Given the description of an element on the screen output the (x, y) to click on. 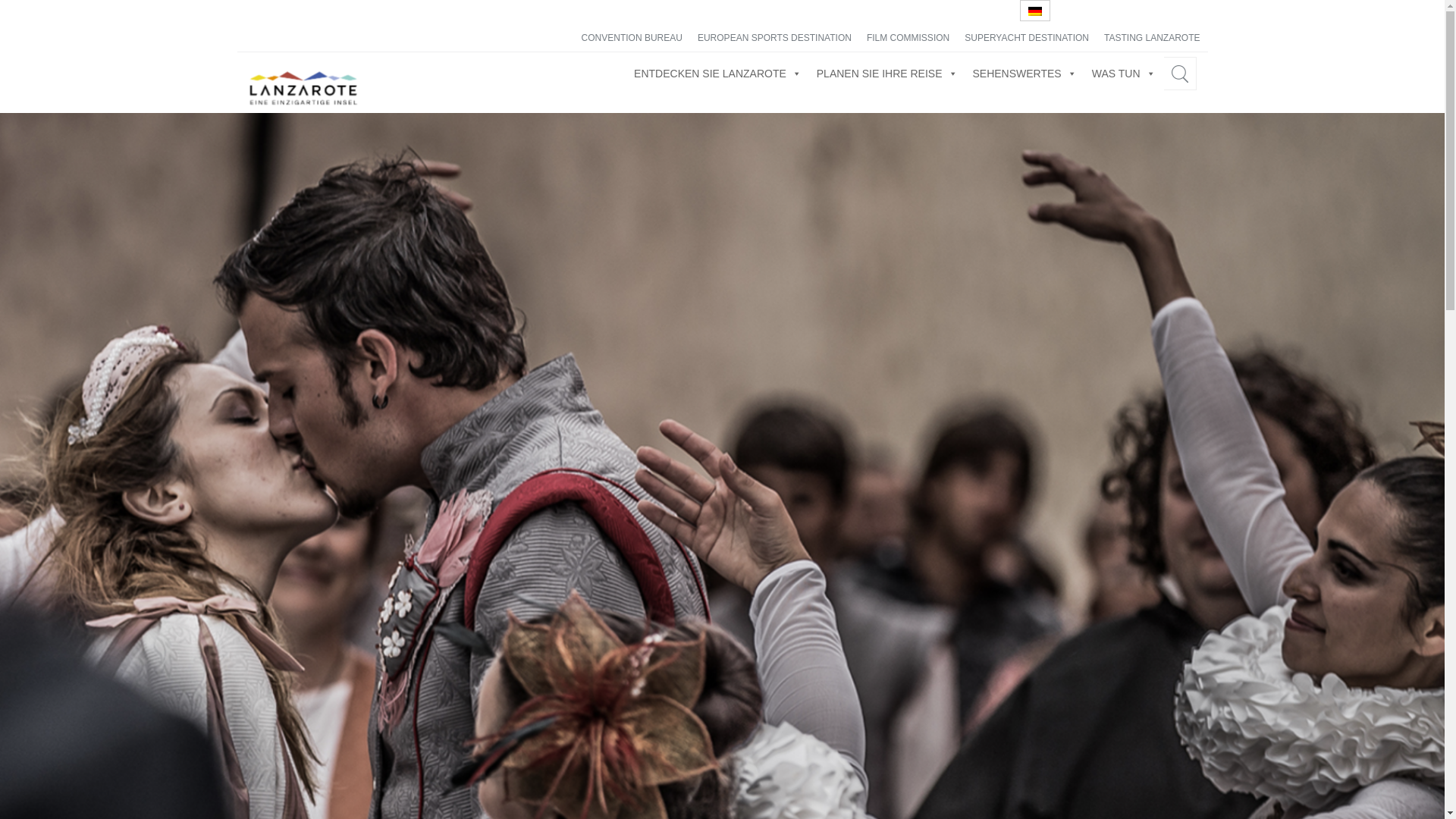
ENTDECKEN SIE LANZAROTE (717, 72)
PLANEN SIE IHRE REISE (887, 72)
TASTING LANZAROTE (1151, 38)
SUPERYACHT DESTINATION (1026, 38)
CONVENTION BUREAU (631, 38)
FILM COMMISSION (907, 38)
EUROPEAN SPORTS DESTINATION (774, 38)
Turismo Lanzarote (311, 100)
